Given the description of an element on the screen output the (x, y) to click on. 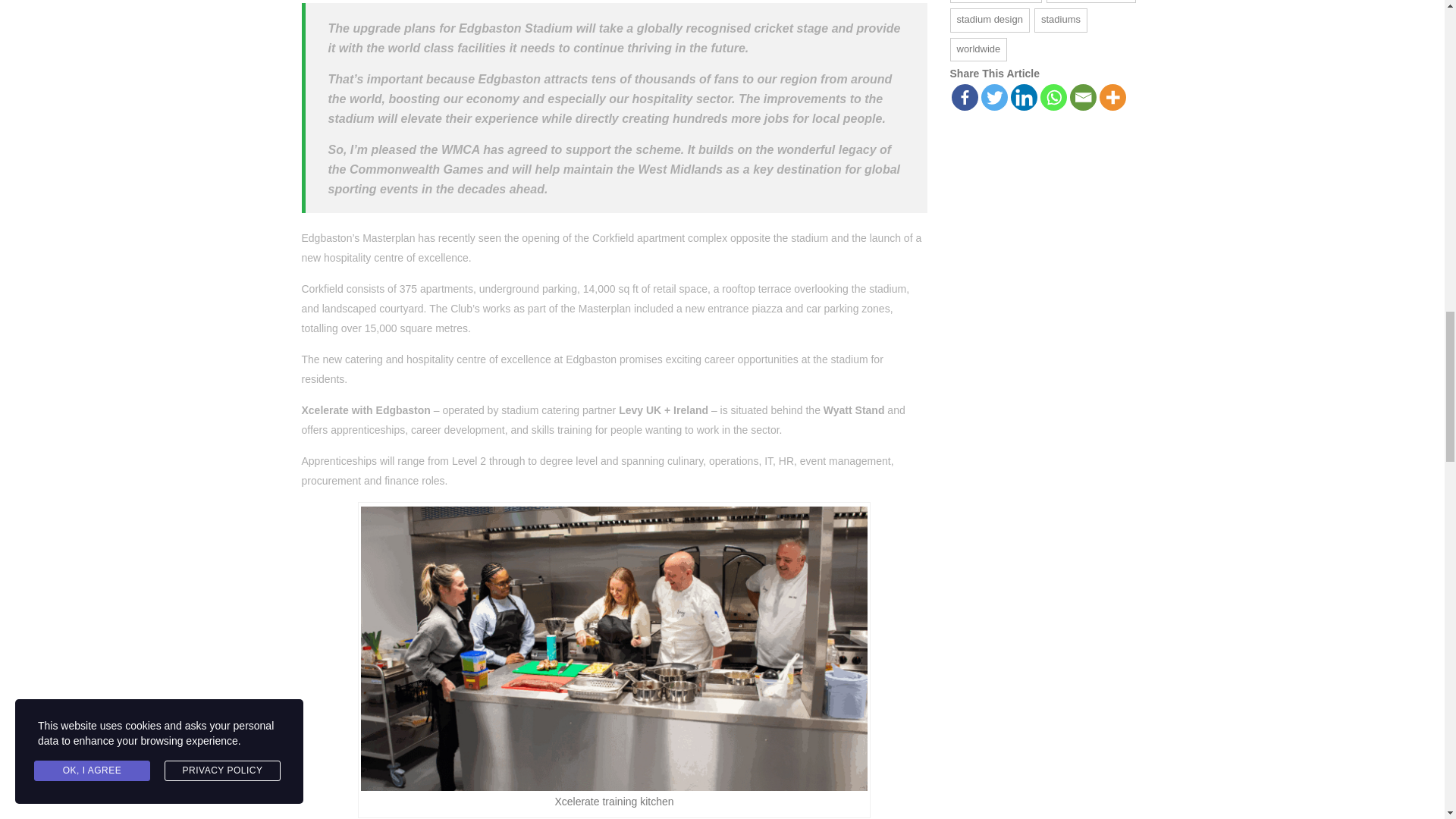
Linkedin (1023, 97)
Facebook (963, 97)
Email (1082, 97)
Whatsapp (1054, 97)
Twitter (994, 97)
